Given the description of an element on the screen output the (x, y) to click on. 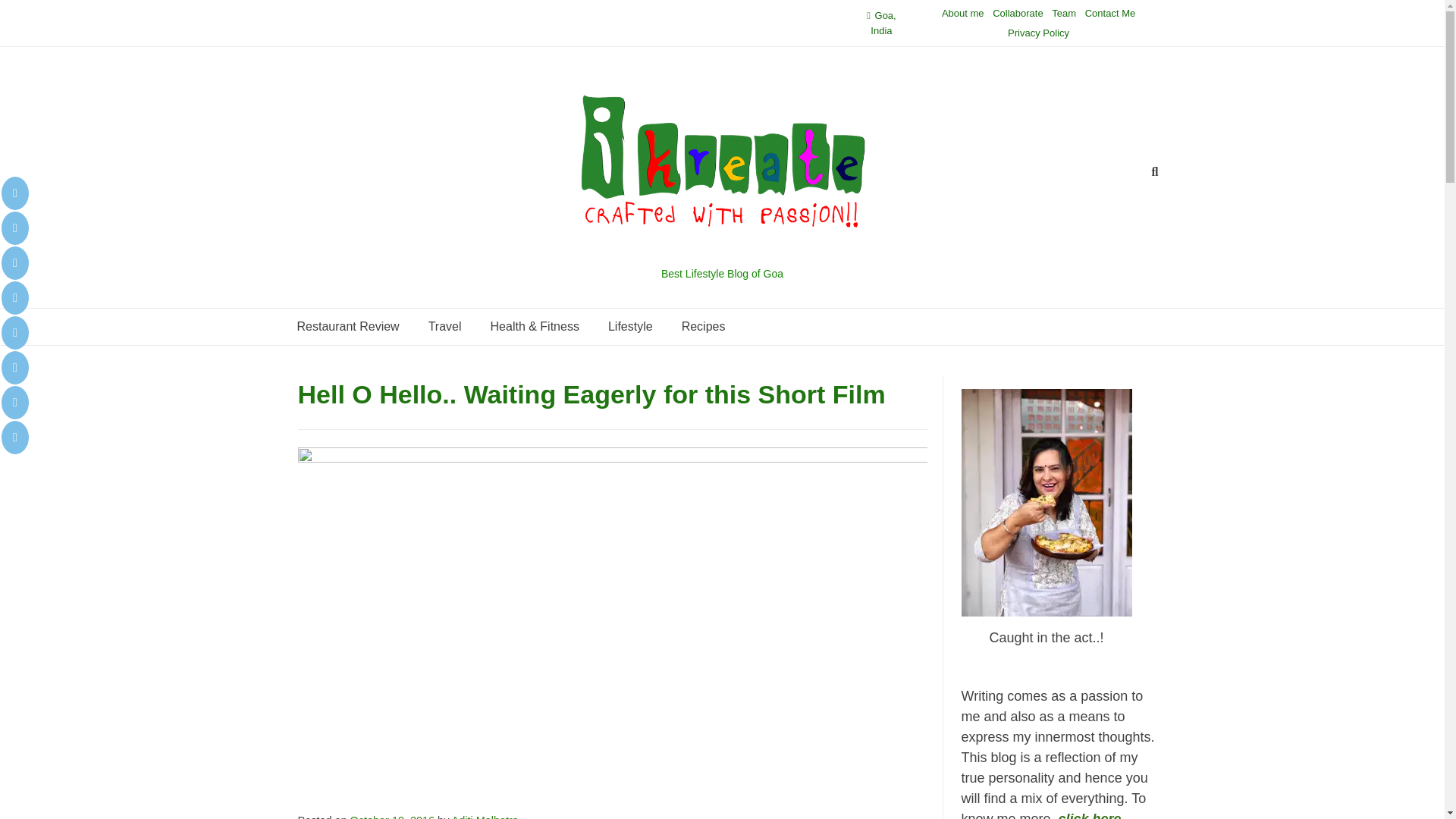
Travel (444, 326)
Aditi Malhotra (484, 816)
Search (27, 13)
Recipes (702, 326)
About me (963, 13)
Team (1063, 13)
Restaurant Review (347, 326)
Lifestyle (630, 326)
Contact Me (1109, 13)
Privacy Policy (1037, 32)
October 19, 2016 (392, 816)
Collaborate (1018, 13)
